Given the description of an element on the screen output the (x, y) to click on. 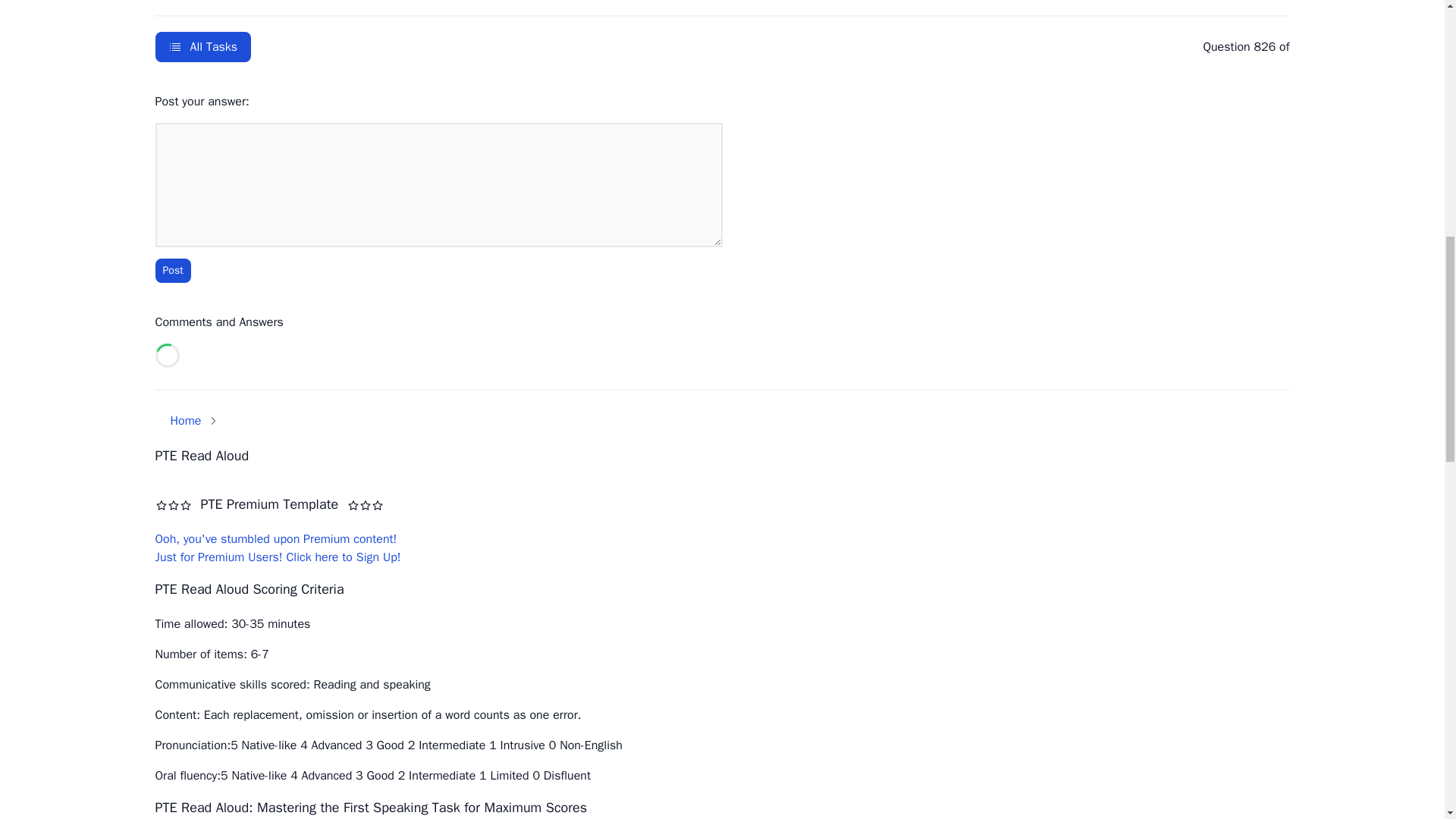
All Tasks (202, 46)
Home (185, 420)
Post (172, 270)
Just for Premium Users! Click here to Sign Up! (277, 557)
